Given the description of an element on the screen output the (x, y) to click on. 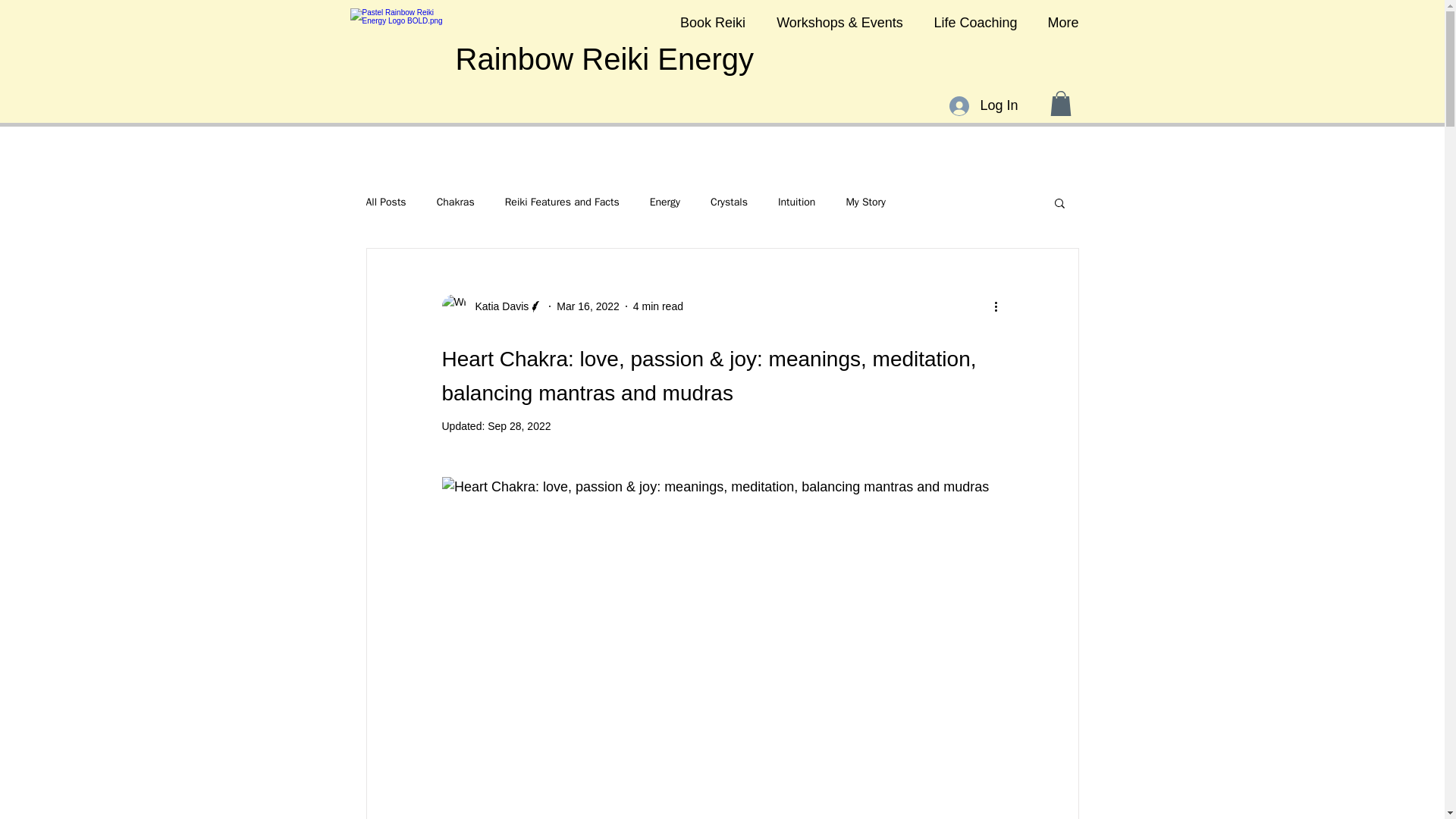
All Posts (385, 202)
Book Reiki (711, 22)
My Story (865, 202)
Katia Davis (496, 306)
Mar 16, 2022 (588, 306)
Rainbow Reiki Energy (604, 59)
Intuition (796, 202)
Reiki Features and Facts (562, 202)
Chakras (455, 202)
Energy (664, 202)
Crystals (729, 202)
4 min read (657, 306)
Life Coaching (975, 22)
Sep 28, 2022 (518, 426)
Log In (983, 105)
